Given the description of an element on the screen output the (x, y) to click on. 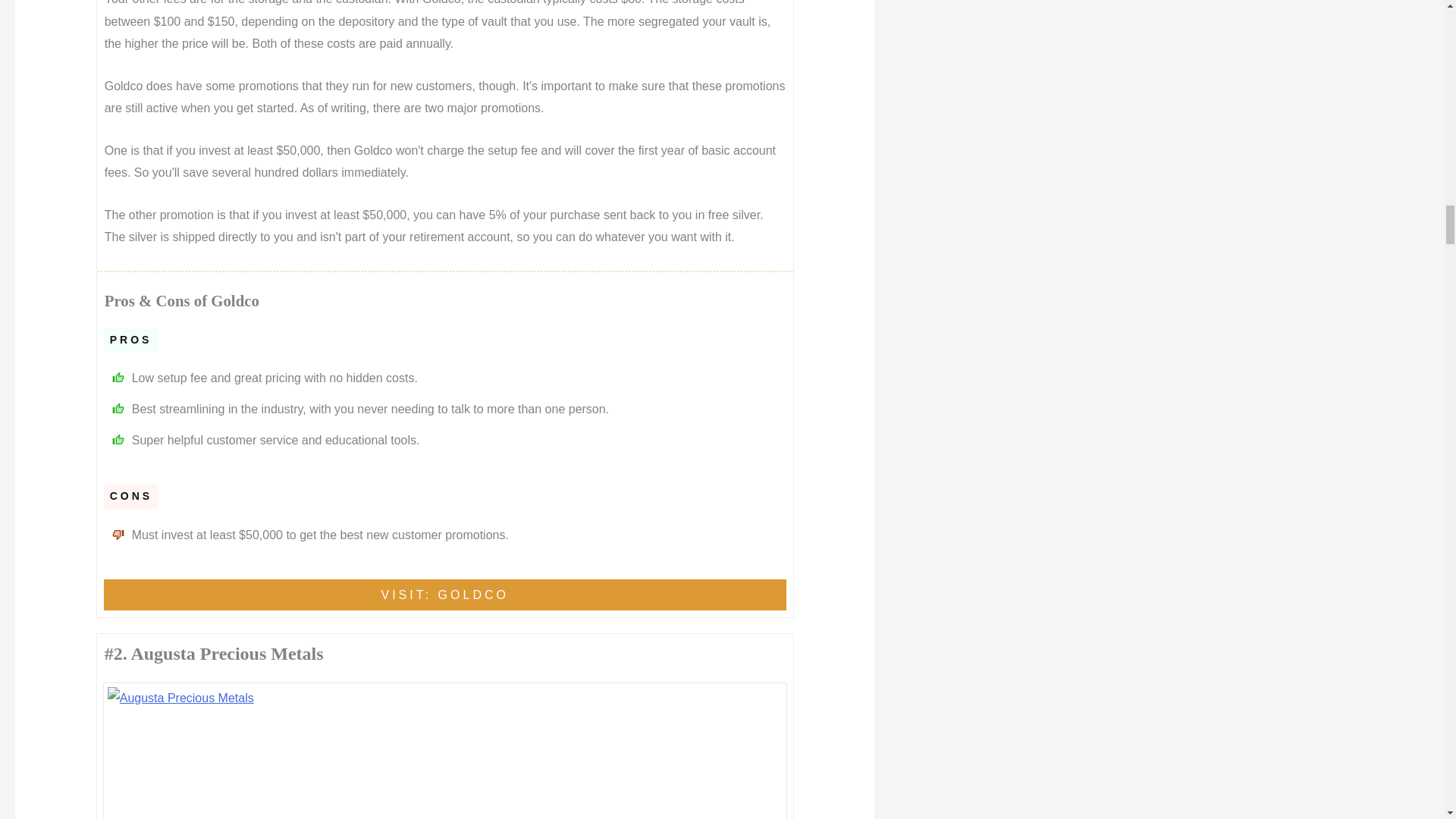
Augusta Precious Metals (445, 753)
VISIT: GOLDCO (444, 594)
